Given the description of an element on the screen output the (x, y) to click on. 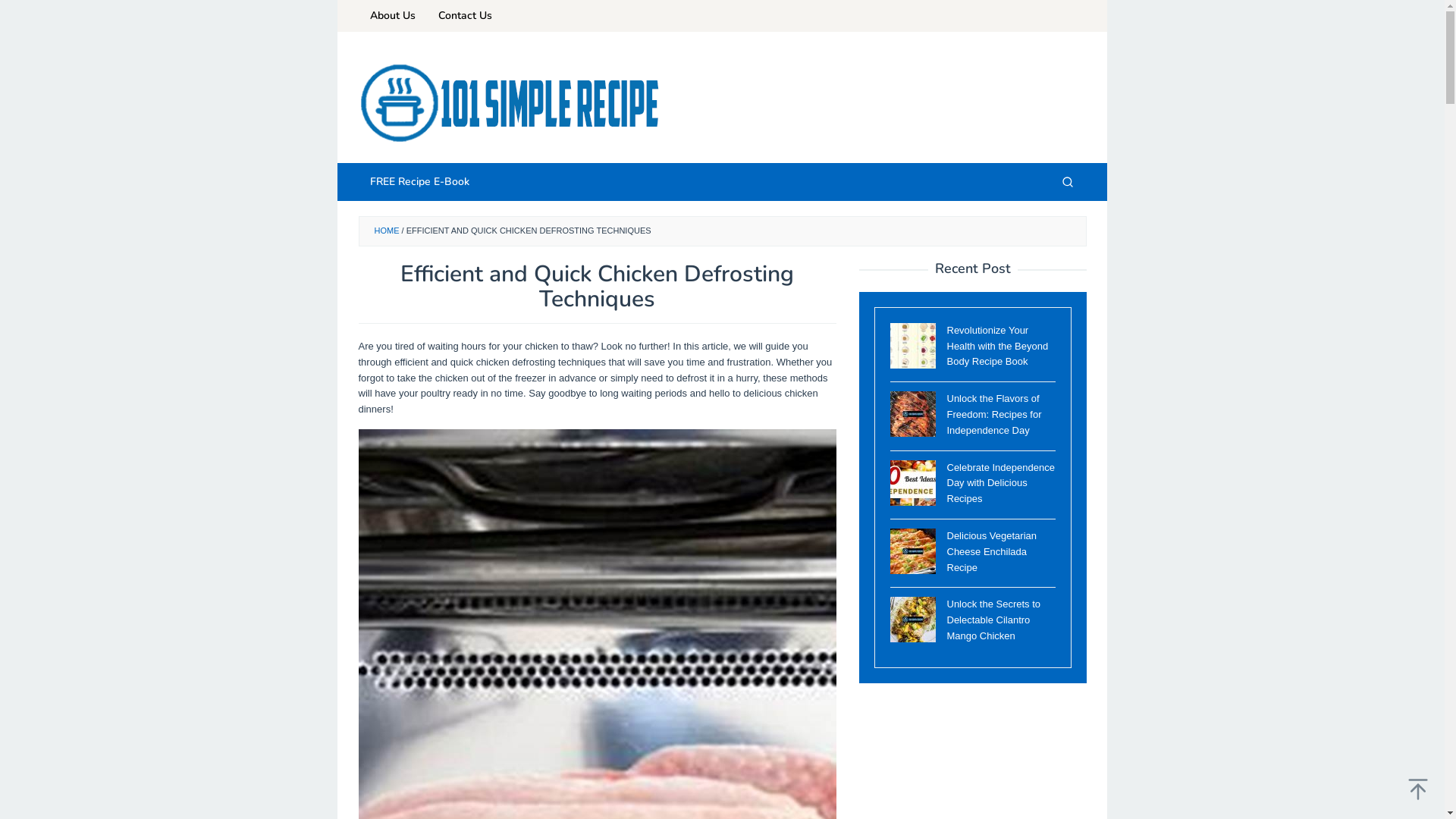
About Us Element type: text (391, 15)
Search Element type: hover (1066, 181)
Revolutionize Your Health with the Beyond Body Recipe Book Element type: text (997, 345)
Celebrate Independence Day with Delicious Recipes Element type: hover (912, 482)
Revolutionize Your Health with the Beyond Body Recipe Book Element type: hover (912, 345)
FREE Recipe E-Book Element type: text (418, 181)
101 Simple Recipe Element type: hover (509, 102)
Celebrate Independence Day with Delicious Recipes Element type: text (1000, 483)
Delicious Vegetarian Cheese Enchilada Recipe Element type: text (991, 551)
Unlock the Flavors of Freedom: Recipes for Independence Day Element type: text (993, 414)
Unlock the Secrets to Delectable Cilantro Mango Chicken Element type: text (993, 619)
101 Simple Recipe Element type: hover (509, 102)
Contact Us Element type: text (464, 15)
HOME Element type: text (386, 230)
